Given the description of an element on the screen output the (x, y) to click on. 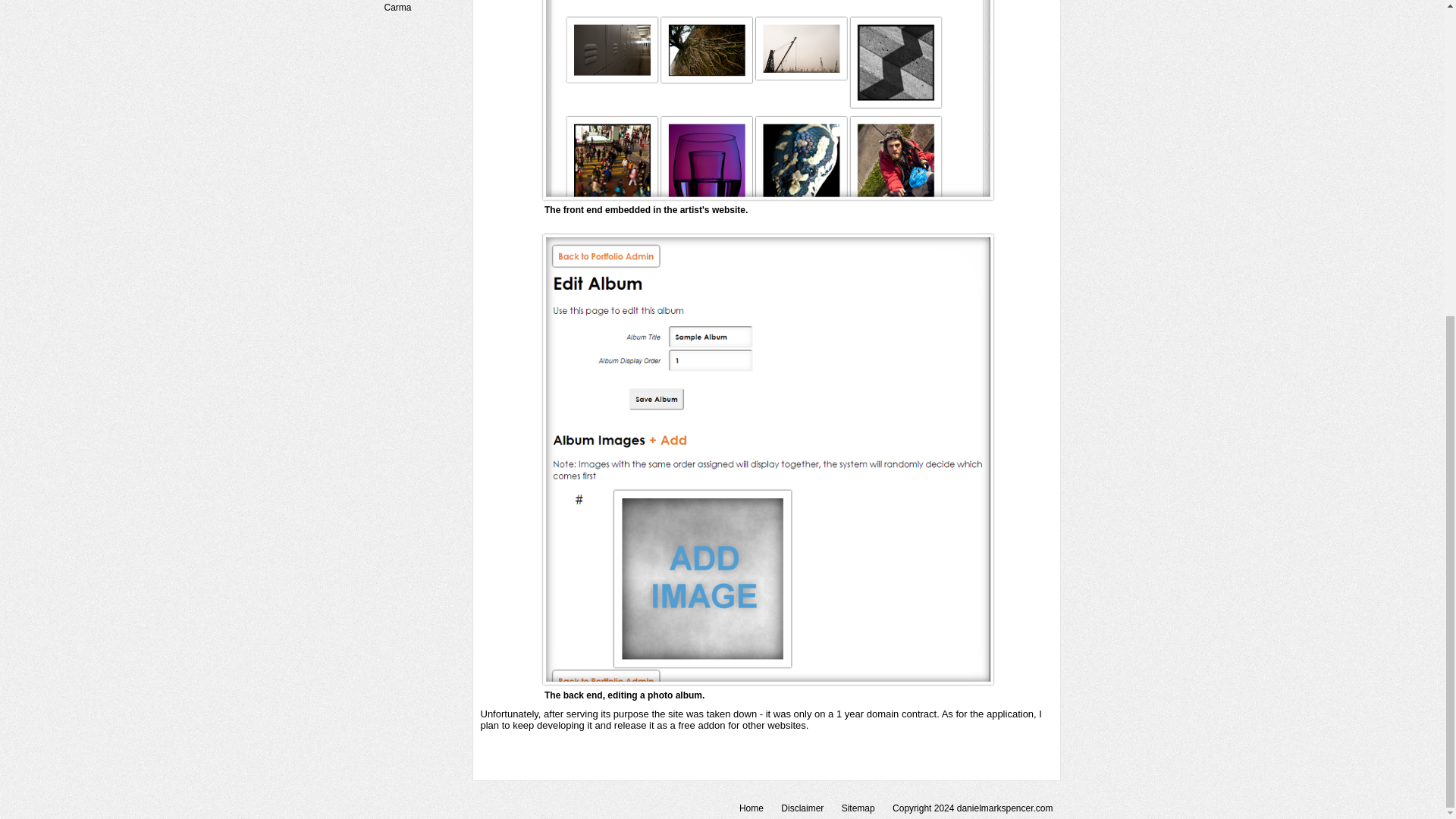
Carma (425, 7)
Home (750, 808)
Sitemap (858, 808)
Disclaimer (802, 808)
